Given the description of an element on the screen output the (x, y) to click on. 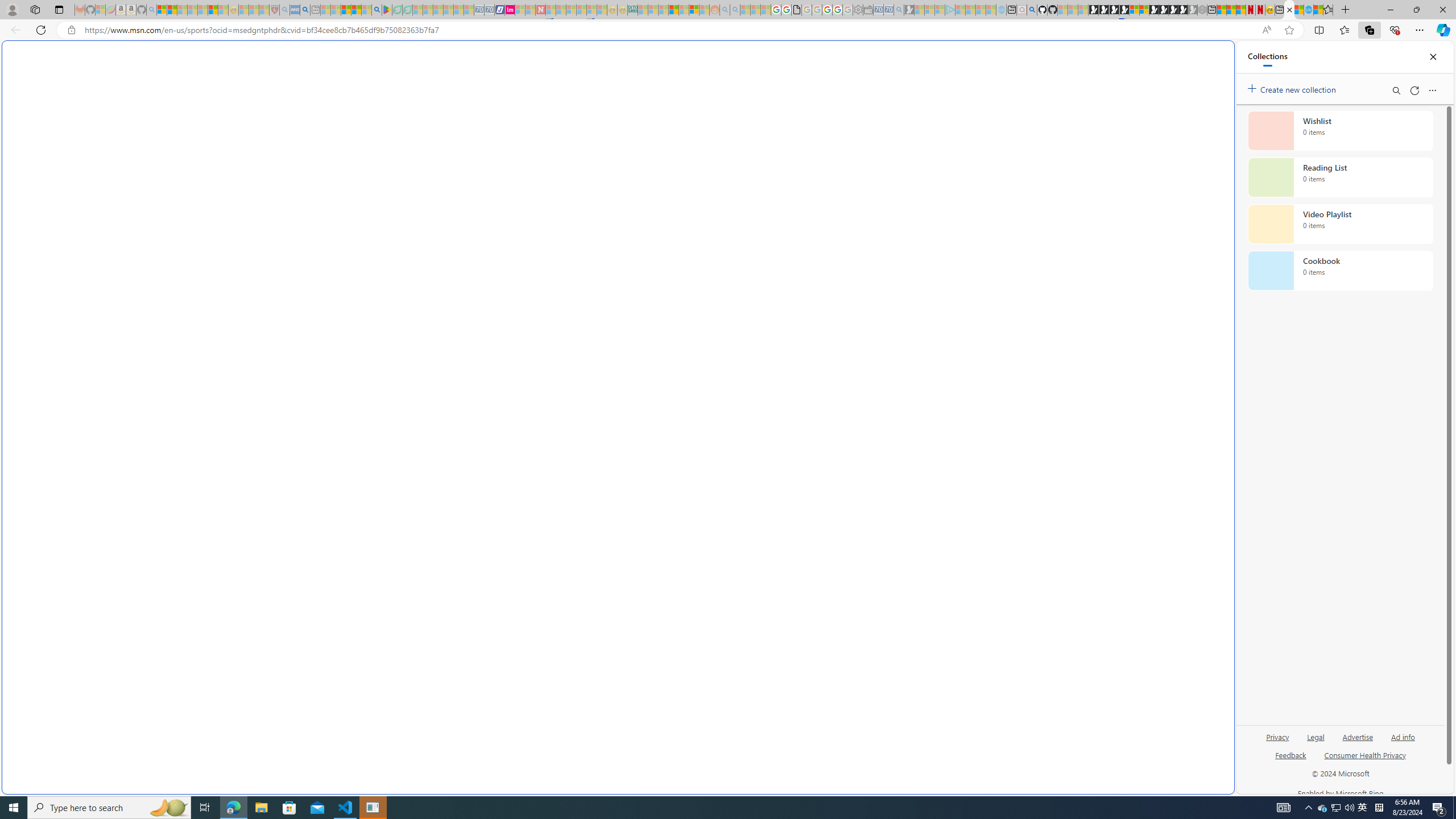
Close split screen (1208, 57)
